Given the description of an element on the screen output the (x, y) to click on. 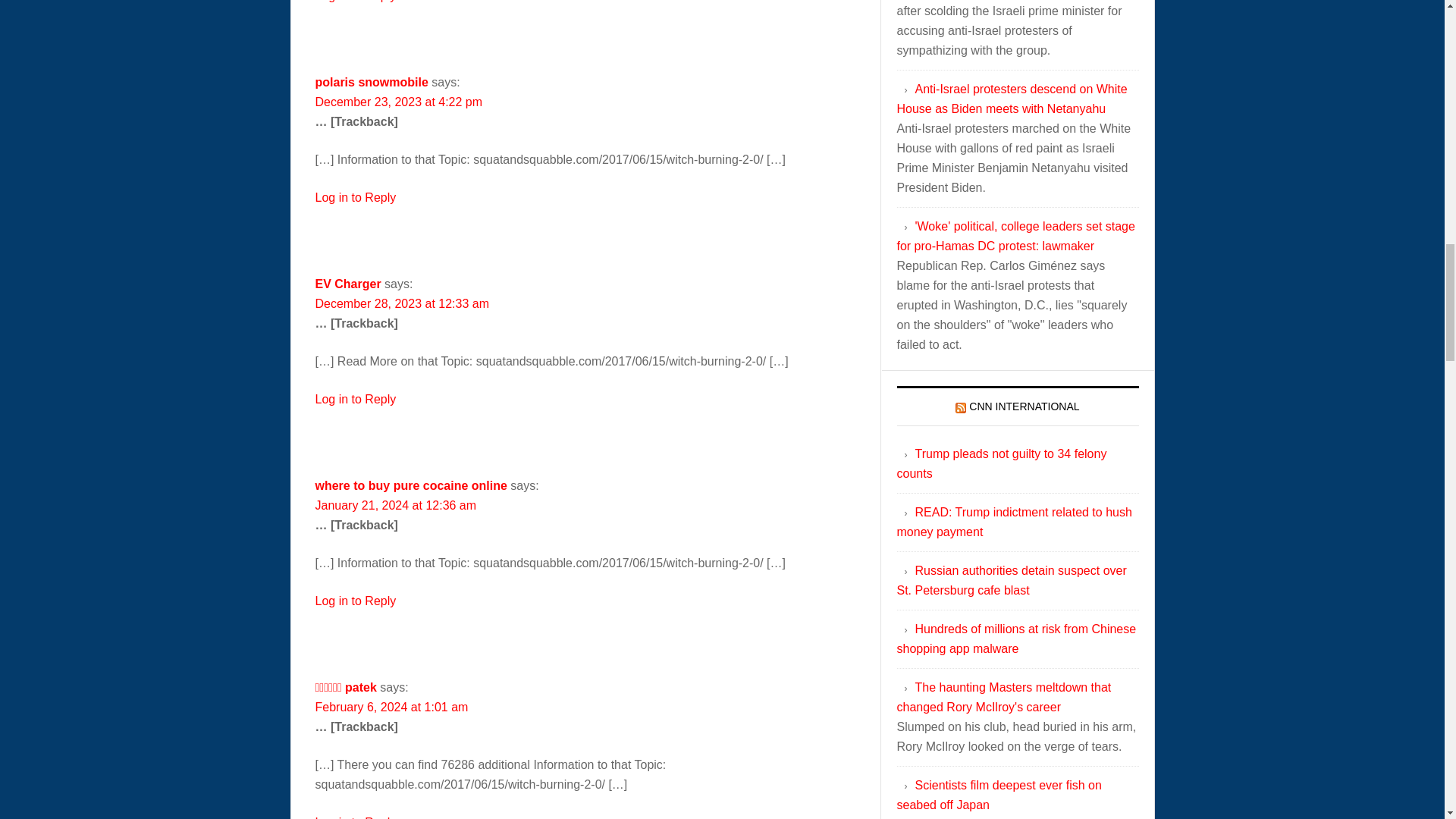
Log in to Reply (355, 600)
Log in to Reply (355, 196)
where to buy pure cocaine online (410, 485)
February 6, 2024 at 1:01 am (391, 707)
January 21, 2024 at 12:36 am (396, 504)
Log in to Reply (355, 399)
December 23, 2023 at 4:22 pm (399, 101)
December 28, 2023 at 12:33 am (402, 303)
EV Charger (348, 283)
Log in to Reply (355, 1)
polaris snowmobile (371, 82)
Log in to Reply (355, 817)
